Given the description of an element on the screen output the (x, y) to click on. 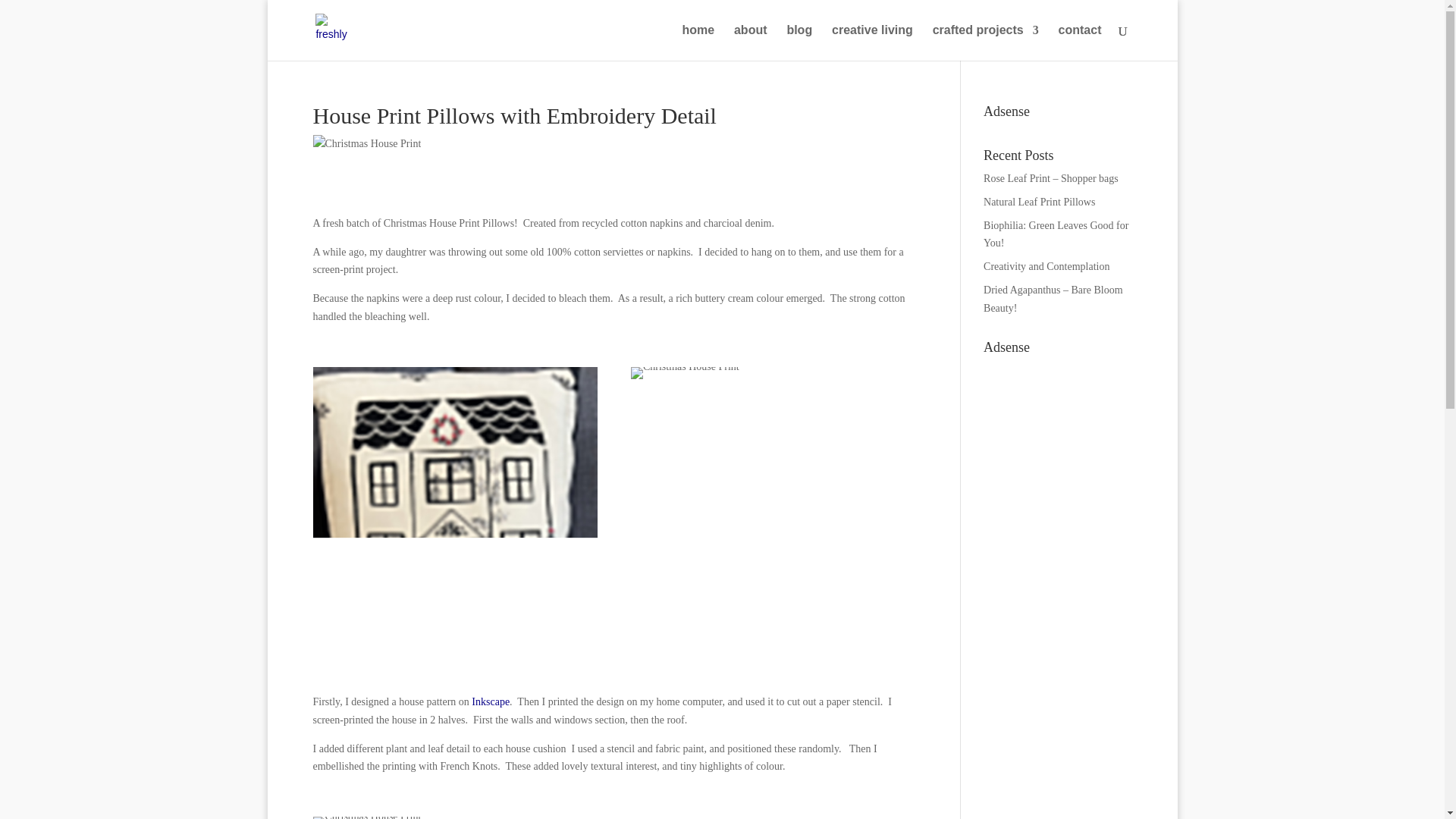
Biophilia: Green Leaves Good for You! (1056, 234)
about (750, 42)
Creativity and Contemplation (1046, 266)
creative living (871, 42)
home (697, 42)
contact (1080, 42)
crafted projects (986, 42)
Natural Leaf Print Pillows (1039, 202)
Inkscape (490, 701)
